Given the description of an element on the screen output the (x, y) to click on. 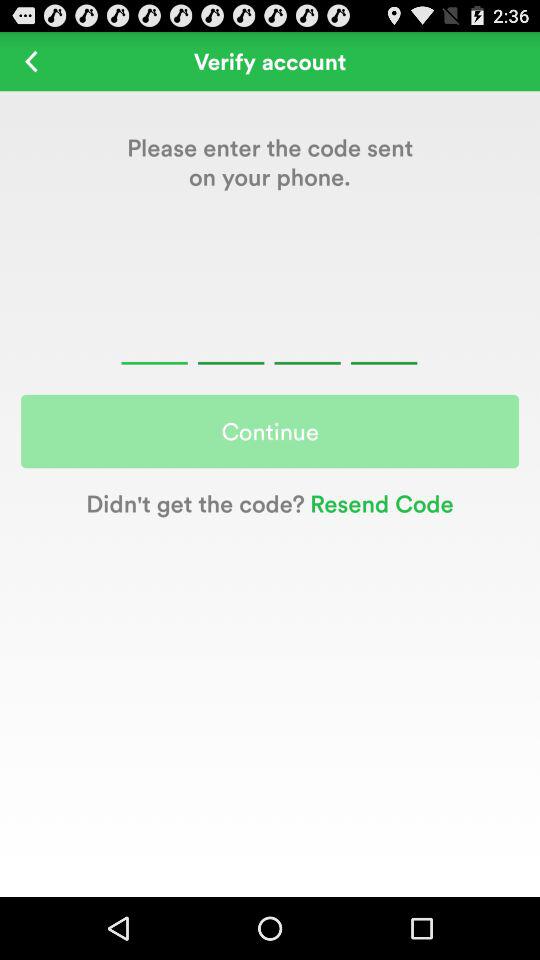
press the icon to the left of the verify account item (31, 60)
